Given the description of an element on the screen output the (x, y) to click on. 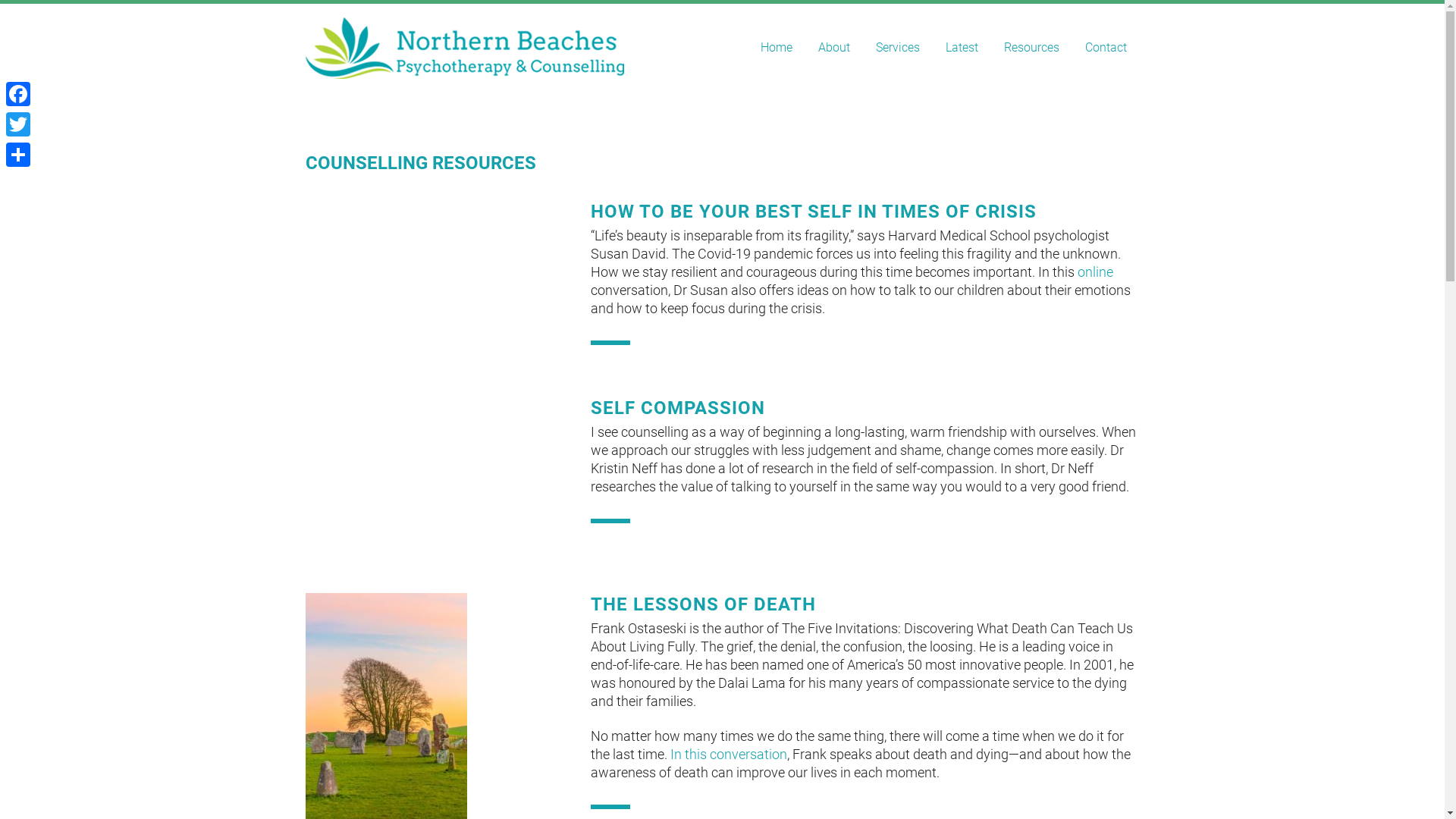
Services Element type: text (897, 47)
In this conversation Element type: text (728, 754)
Home Element type: text (776, 47)
online Element type: text (1095, 271)
Susan David: How to be your best self in times of crisis Element type: hover (435, 274)
About Element type: text (833, 47)
Latest Element type: text (961, 47)
Twitter Element type: text (18, 124)
Share Element type: text (18, 154)
Facebook Element type: text (18, 93)
Contact Element type: text (1105, 47)
Resources Element type: text (1030, 47)
